Given the description of an element on the screen output the (x, y) to click on. 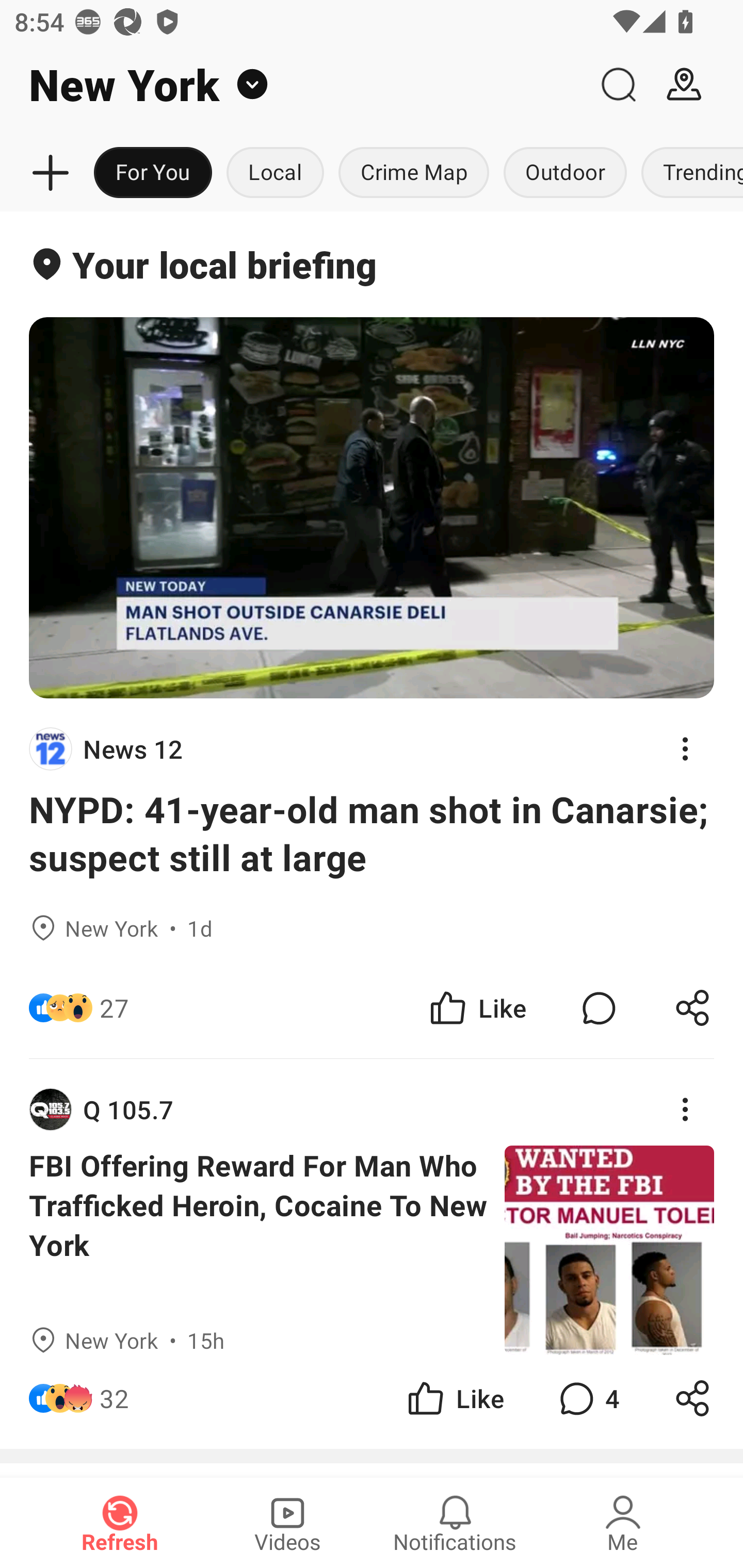
New York (292, 84)
For You (152, 172)
Local (275, 172)
Crime Map (413, 172)
Outdoor (564, 172)
Trending (688, 172)
27 (114, 1007)
Like (476, 1007)
32 (114, 1397)
Like (454, 1397)
4 (587, 1397)
Videos (287, 1522)
Notifications (455, 1522)
Me (622, 1522)
